Given the description of an element on the screen output the (x, y) to click on. 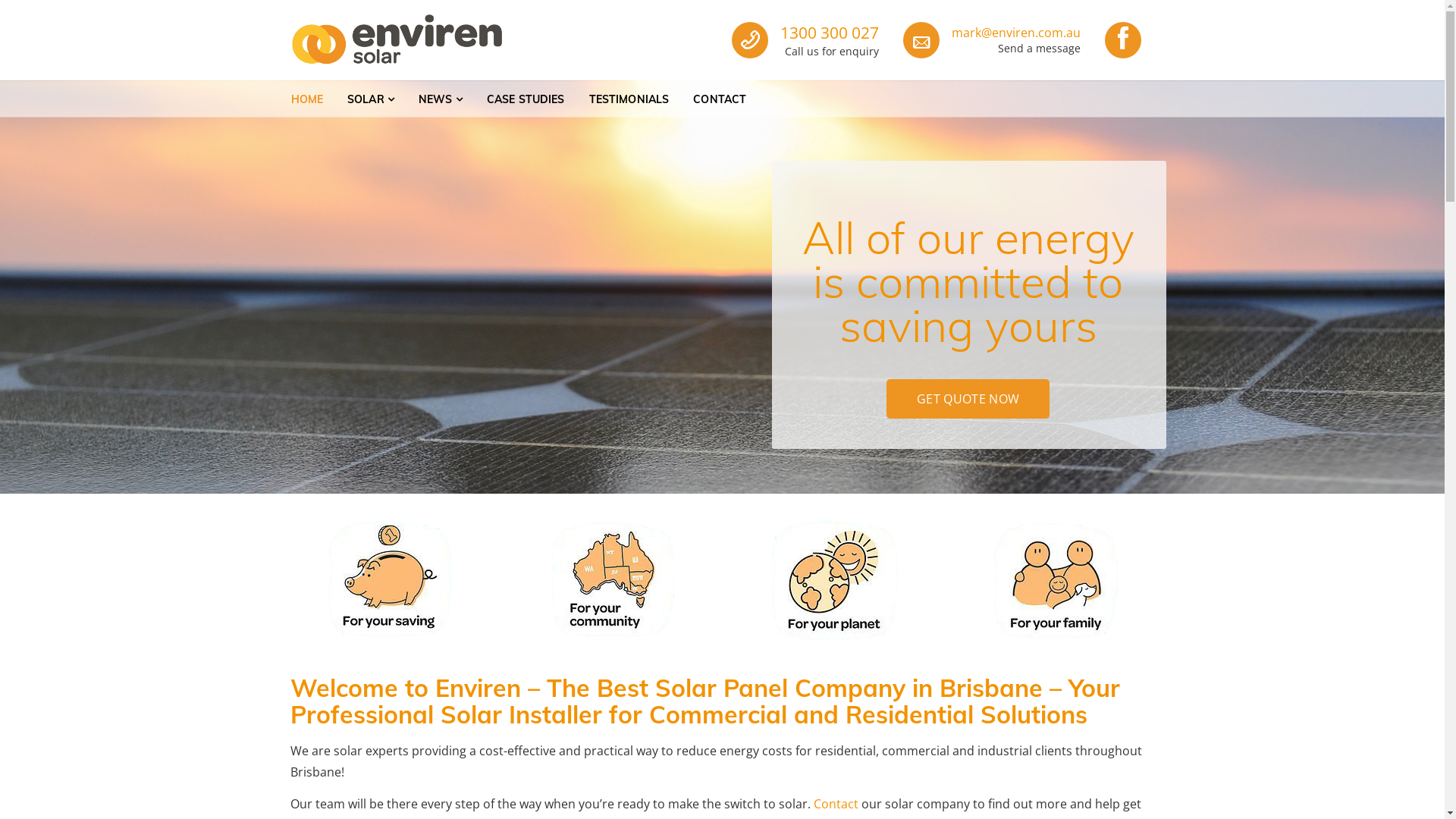
SOLAR Element type: text (370, 98)
GET QUOTE NOW Element type: text (967, 398)
1300 300 027 Element type: text (829, 32)
HOME Element type: text (307, 98)
Contact Element type: text (834, 803)
mark@enviren.com.au Element type: text (1015, 32)
CONTACT Element type: text (719, 98)
CASE STUDIES Element type: text (525, 98)
NEWS Element type: text (440, 98)
TESTIMONIALS Element type: text (629, 98)
